Given the description of an element on the screen output the (x, y) to click on. 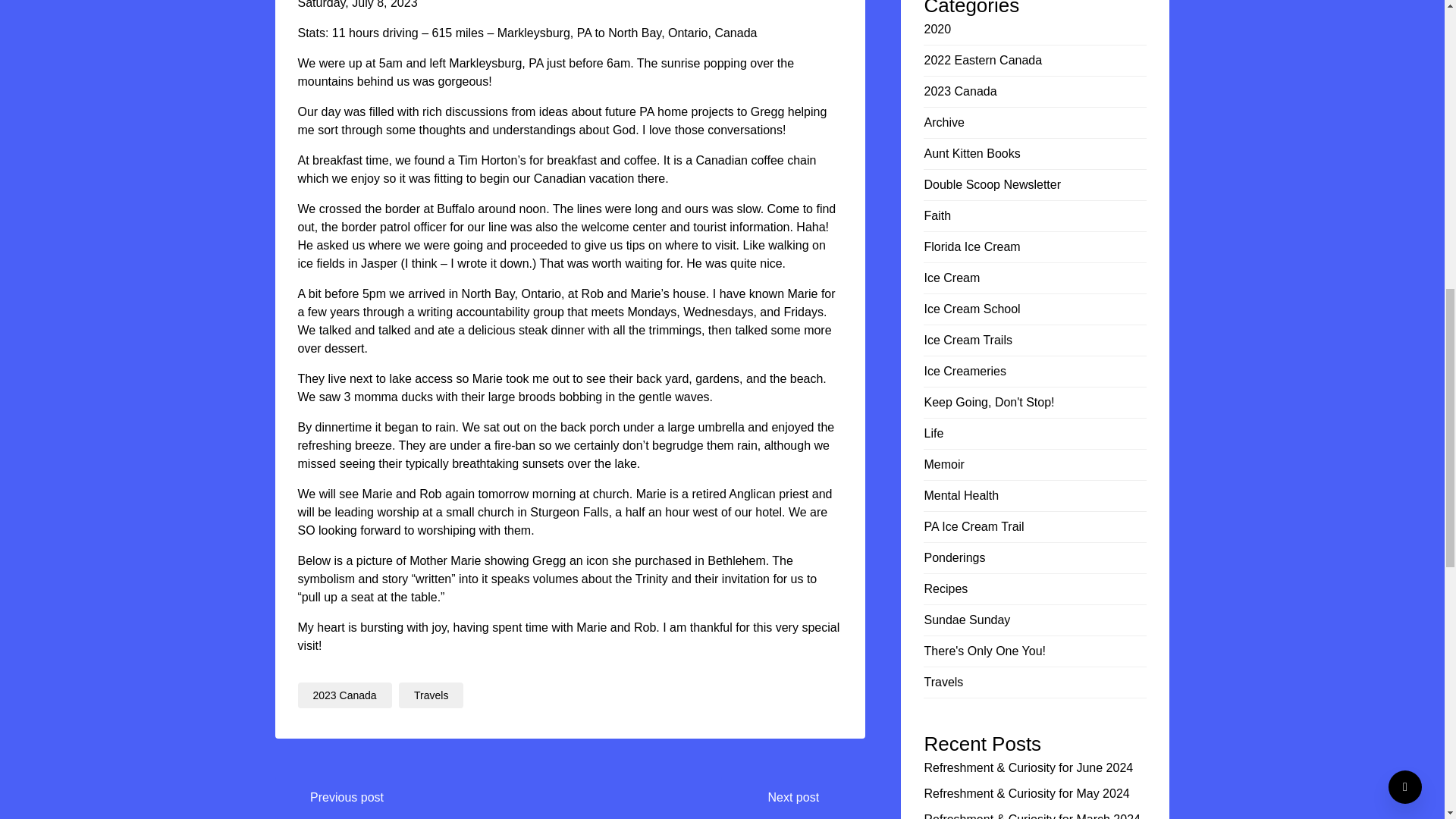
Florida Ice Cream (971, 246)
2022 Eastern Canada (982, 60)
Ice Cream Trails (967, 339)
Aunt Kitten Books (971, 153)
Next post (792, 797)
Archive (943, 122)
Ice Cream (951, 277)
Ice Creameries (964, 370)
2023 Canada (959, 91)
Life (933, 432)
Previous post (347, 797)
Double Scoop Newsletter (992, 184)
2023 Canada (344, 695)
Faith (936, 215)
Travels (430, 695)
